Given the description of an element on the screen output the (x, y) to click on. 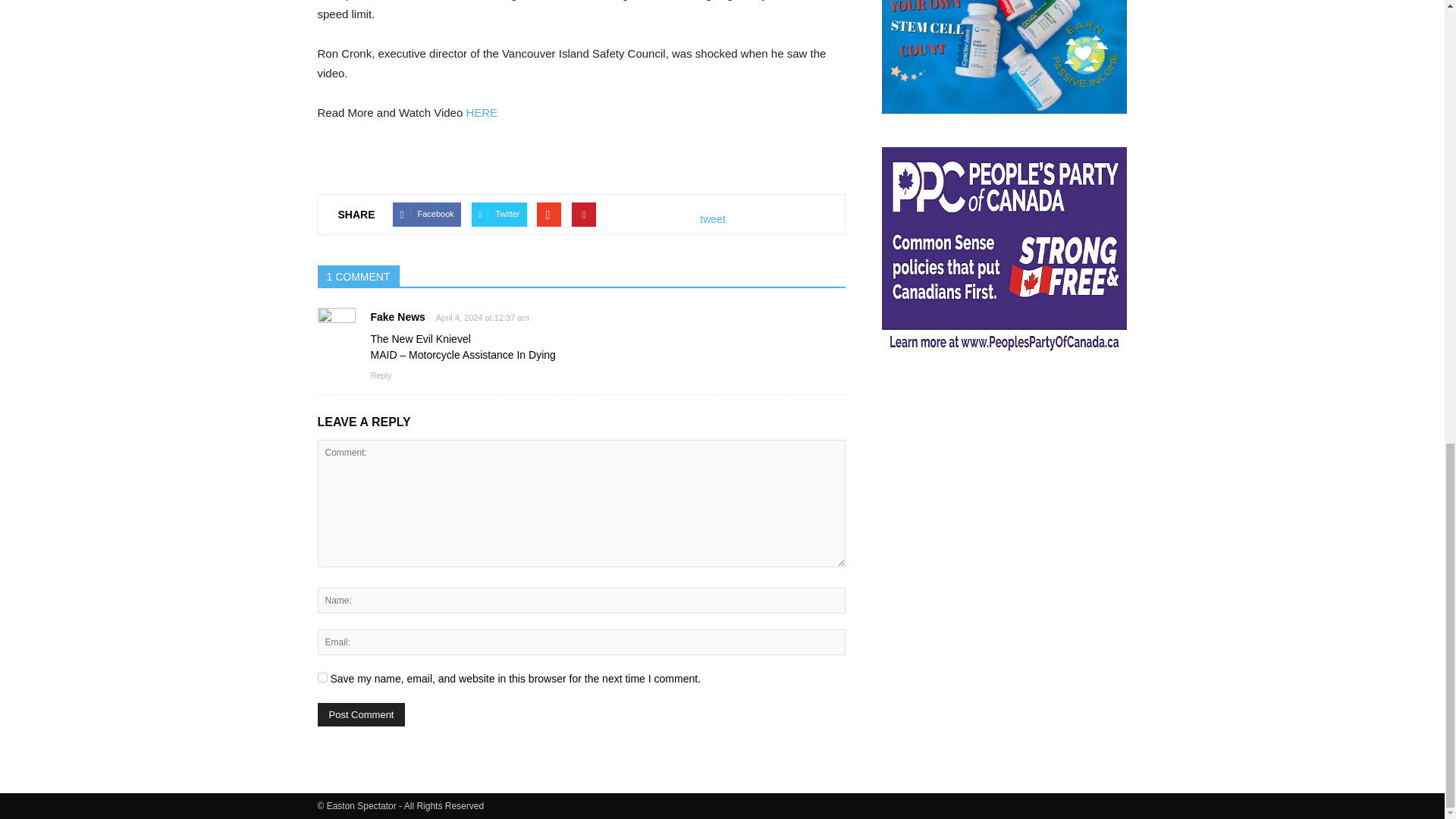
yes (321, 677)
Post Comment (360, 714)
Advertisement (1003, 479)
